Given the description of an element on the screen output the (x, y) to click on. 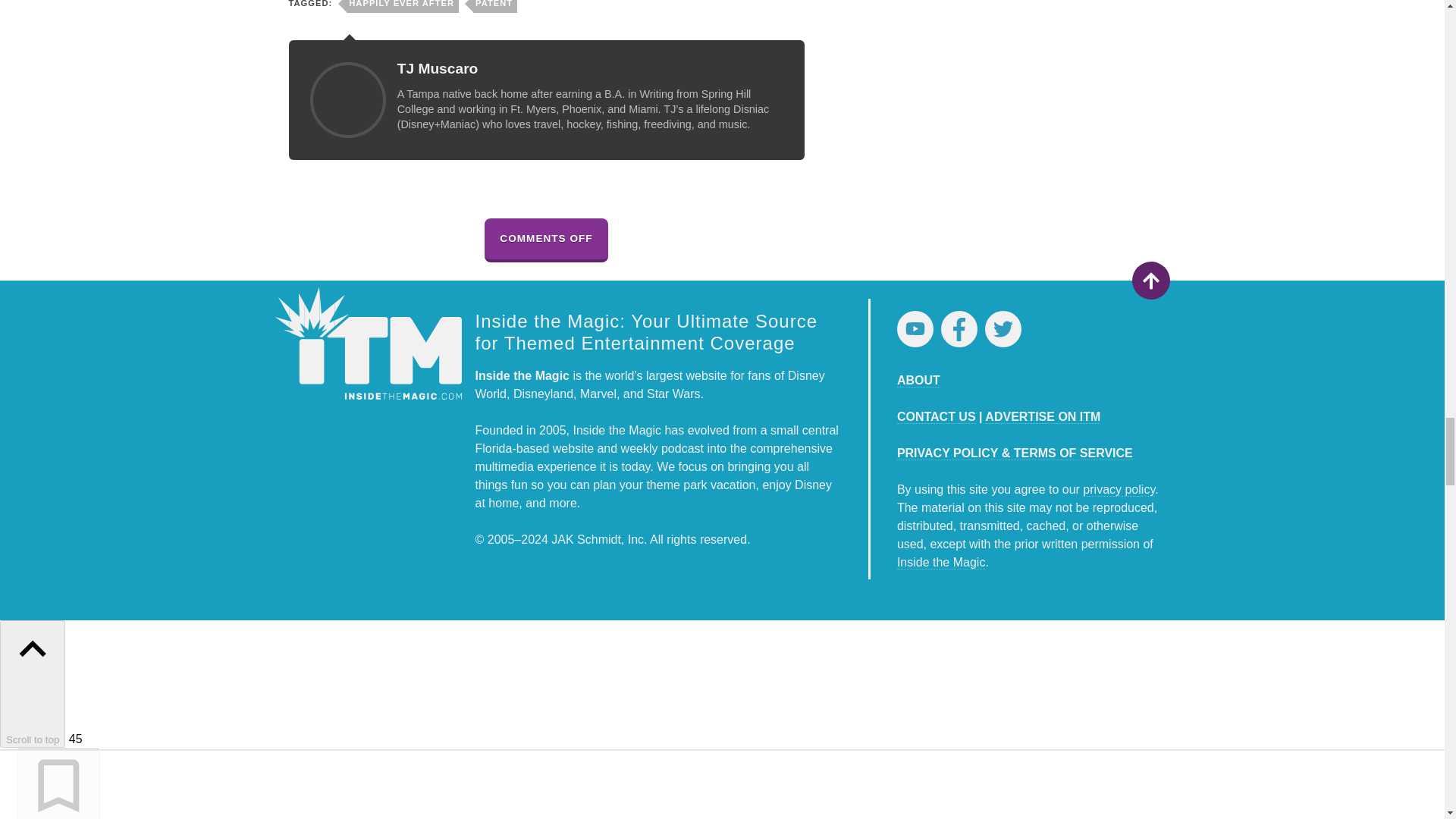
Return to Top (1150, 280)
